Given the description of an element on the screen output the (x, y) to click on. 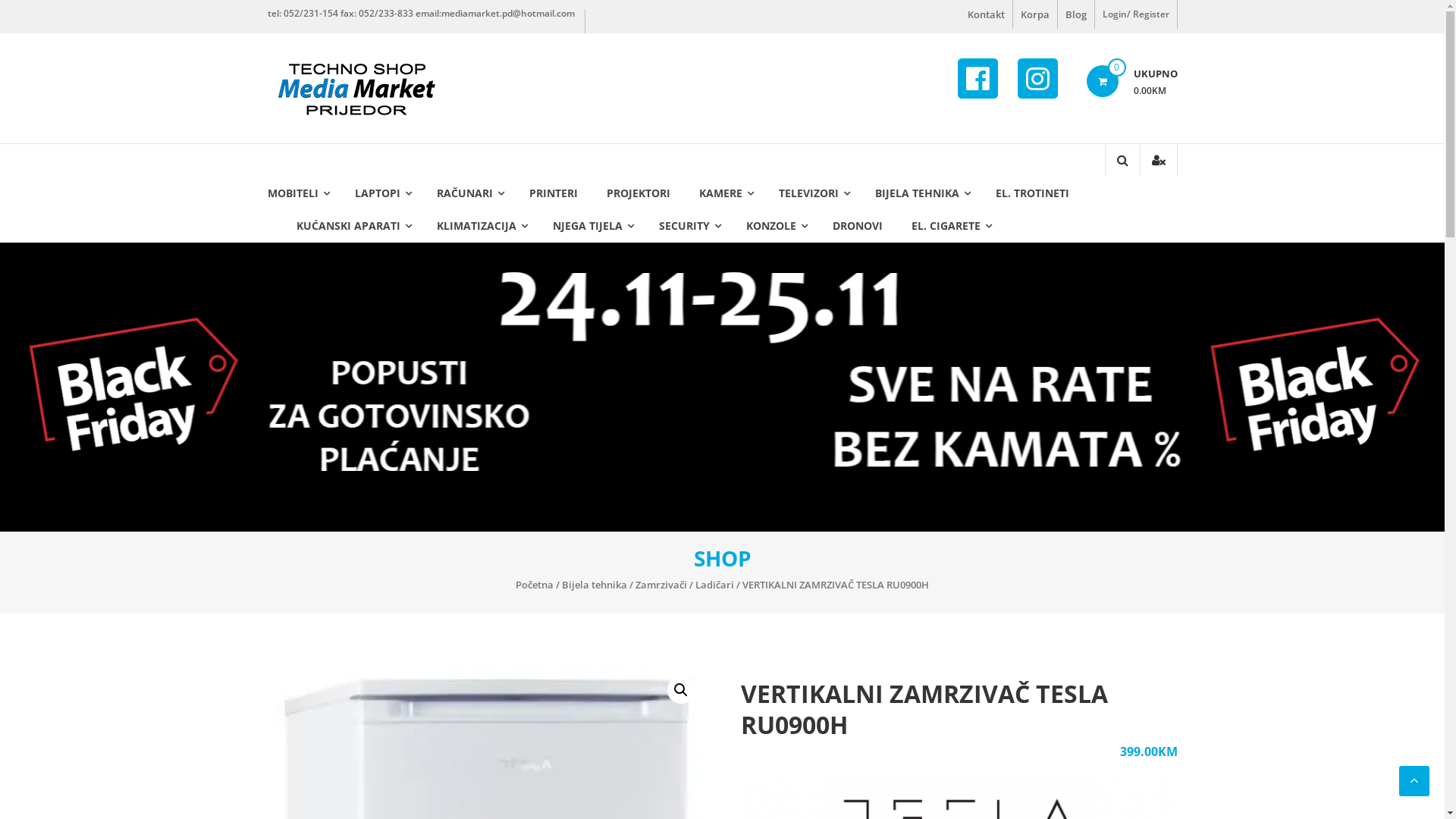
LAPTOPI Element type: text (377, 192)
EL. TROTINETI Element type: text (1031, 192)
0 Element type: text (1101, 81)
Login/ Register Element type: text (1136, 14)
Media Market Element type: text (305, 85)
KAMERE Element type: text (720, 192)
DRONOVI Element type: text (857, 225)
Instagram Element type: hover (1036, 78)
Bijela tehnika Element type: text (594, 584)
BIJELA TEHNIKA Element type: text (917, 192)
KONZOLE Element type: text (771, 225)
Korpa Element type: text (1035, 14)
TELEVIZORI Element type: text (807, 192)
Instagram Element type: hover (1037, 78)
Blog Element type: text (1075, 14)
EL. CIGARETE Element type: text (945, 225)
PROJEKTORI Element type: text (638, 192)
Facebook Element type: hover (977, 78)
NJEGA TIJELA Element type: text (586, 225)
Facebook Element type: hover (977, 78)
KLIMATIZACIJA Element type: text (476, 225)
MOBITELI Element type: text (291, 192)
SECURITY Element type: text (683, 225)
Kontakt Element type: text (986, 14)
PRINTERI Element type: text (553, 192)
Search Element type: text (1112, 211)
